Given the description of an element on the screen output the (x, y) to click on. 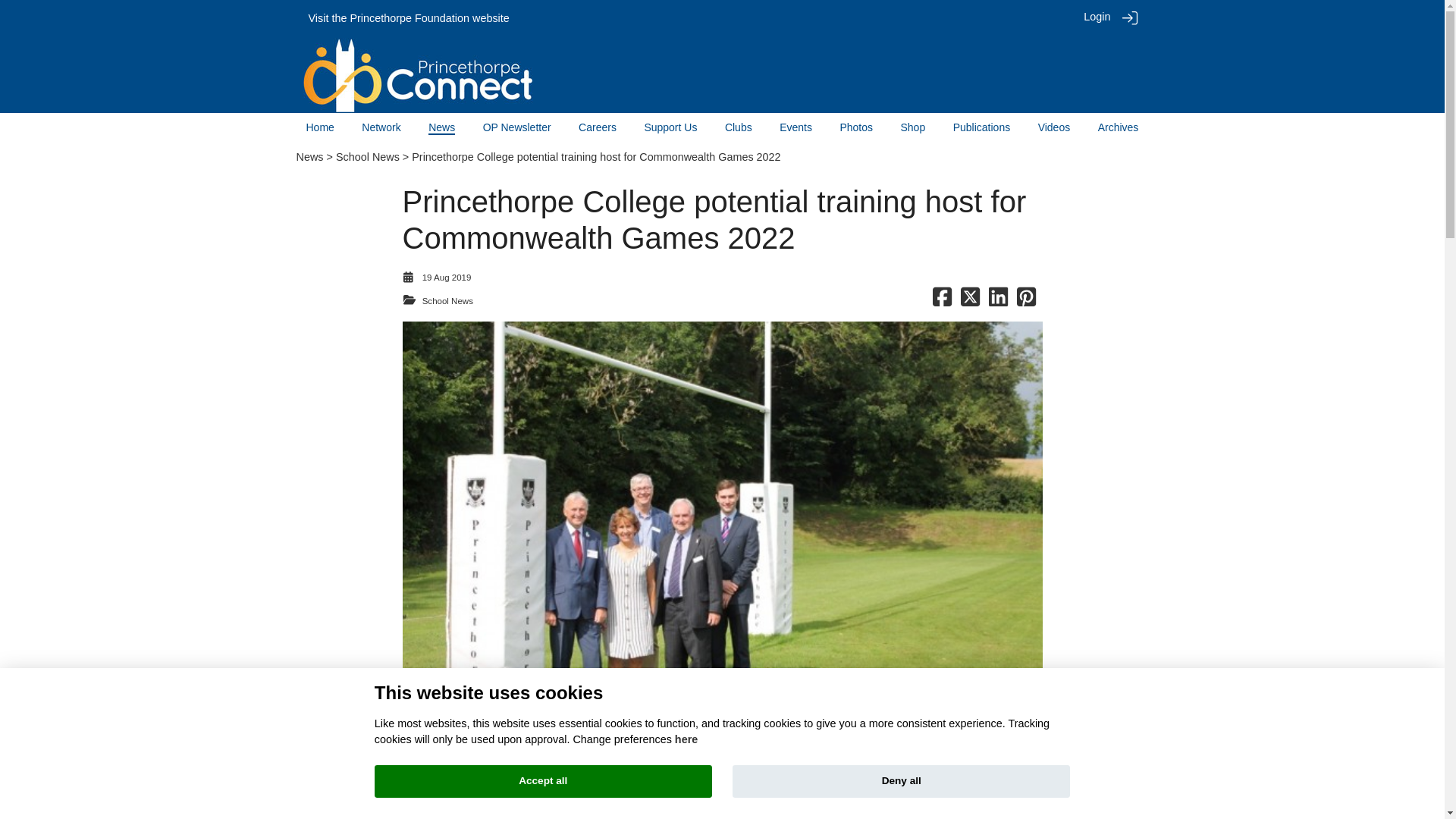
Publications (981, 127)
Visit the Princethorpe Foundation website (407, 18)
Shop (913, 127)
School News (367, 156)
Archives (1117, 127)
Photos (856, 127)
Videos (1054, 127)
Network (380, 127)
Home (319, 127)
Share on Twitter (969, 300)
Share on Pinterest (1025, 300)
Events (795, 127)
Share on Facebook (942, 300)
Support Us (670, 127)
News (309, 156)
